Given the description of an element on the screen output the (x, y) to click on. 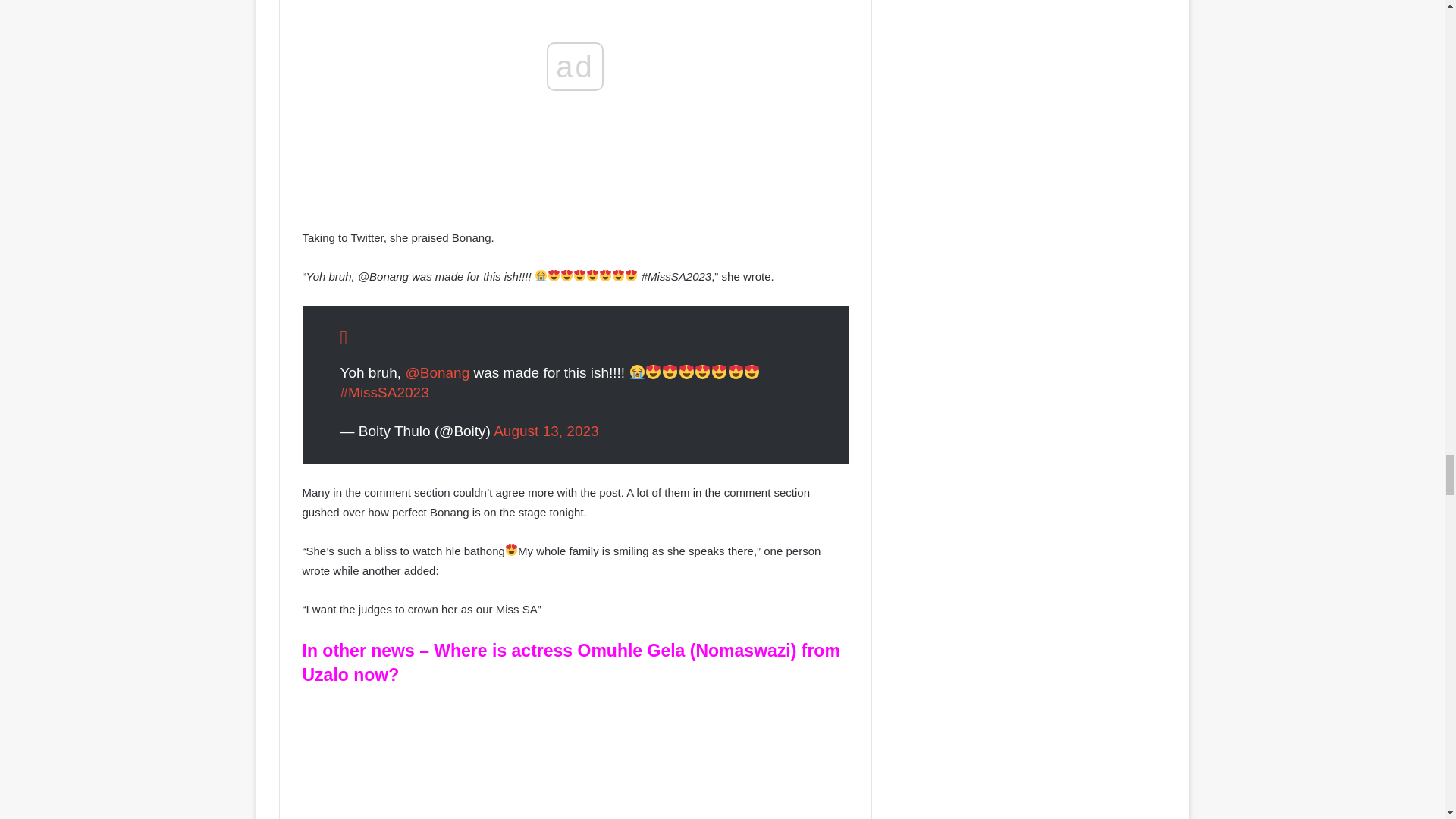
August 13, 2023 (545, 430)
